Given the description of an element on the screen output the (x, y) to click on. 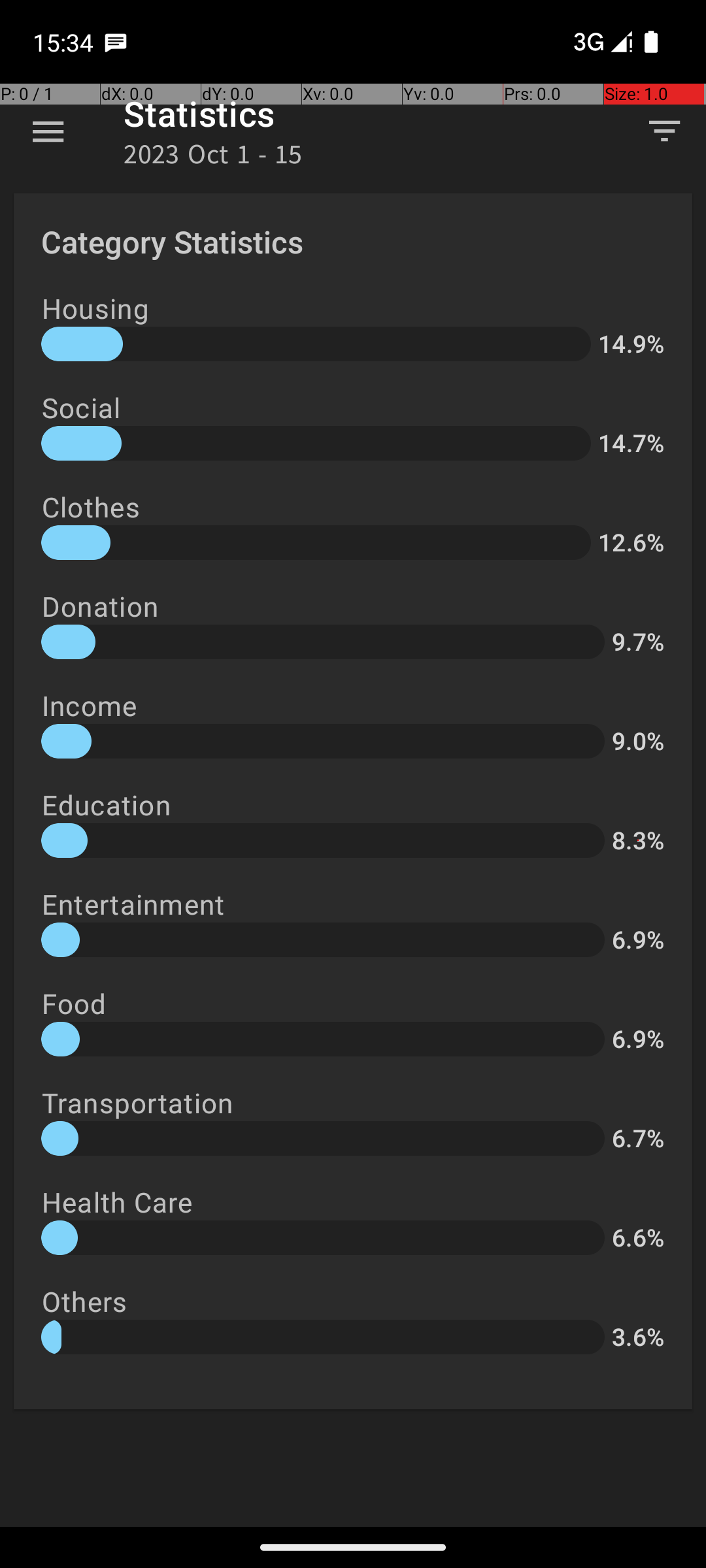
Statistics Element type: android.widget.TextView (199, 113)
2023 Oct 1 - 15 Element type: android.widget.TextView (212, 157)
Category Statistics Element type: android.widget.TextView (172, 240)
14.9% Element type: android.widget.TextView (631, 343)
14.7% Element type: android.widget.TextView (631, 442)
Clothes Element type: android.widget.TextView (90, 506)
12.6% Element type: android.widget.TextView (631, 542)
Donation Element type: android.widget.TextView (99, 605)
9.7% Element type: android.widget.TextView (637, 641)
9.0% Element type: android.widget.TextView (637, 740)
Education Element type: android.widget.TextView (106, 804)
8.3% Element type: android.widget.TextView (637, 840)
6.9% Element type: android.widget.TextView (637, 939)
Transportation Element type: android.widget.TextView (137, 1102)
6.7% Element type: android.widget.TextView (637, 1138)
Health Care Element type: android.widget.TextView (117, 1201)
6.6% Element type: android.widget.TextView (637, 1237)
Others Element type: android.widget.TextView (84, 1300)
3.6% Element type: android.widget.TextView (637, 1336)
